Given the description of an element on the screen output the (x, y) to click on. 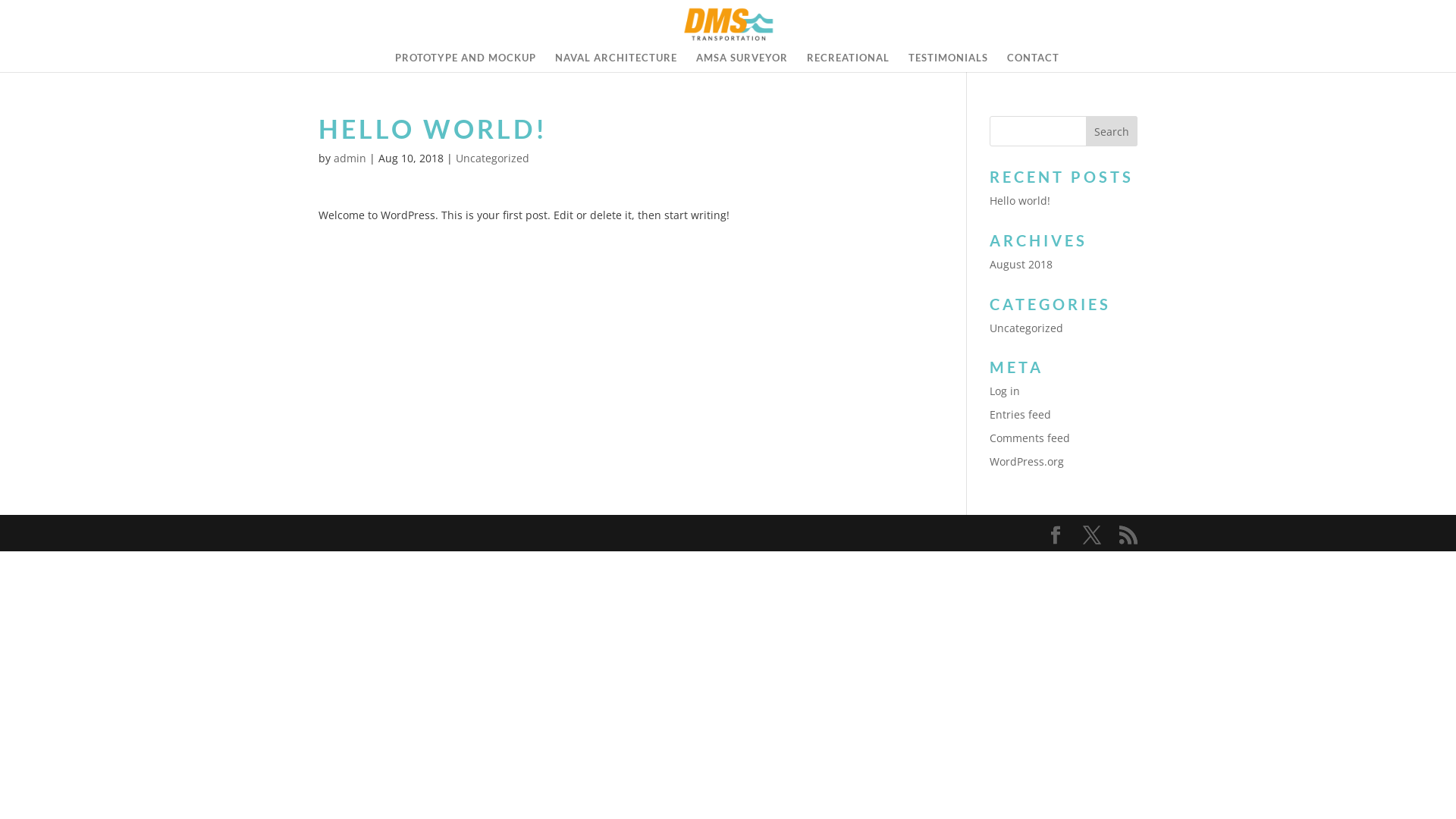
CONTACT Element type: text (1033, 62)
admin Element type: text (349, 157)
PROTOTYPE AND MOCKUP Element type: text (465, 62)
August 2018 Element type: text (1020, 264)
Uncategorized Element type: text (492, 157)
RECREATIONAL Element type: text (847, 62)
Log in Element type: text (1004, 390)
TESTIMONIALS Element type: text (948, 62)
Entries feed Element type: text (1020, 414)
Uncategorized Element type: text (1026, 327)
NAVAL ARCHITECTURE Element type: text (616, 62)
Comments feed Element type: text (1029, 437)
AMSA SURVEYOR Element type: text (741, 62)
Search Element type: text (1111, 131)
WordPress.org Element type: text (1026, 461)
Hello world! Element type: text (1019, 200)
